Given the description of an element on the screen output the (x, y) to click on. 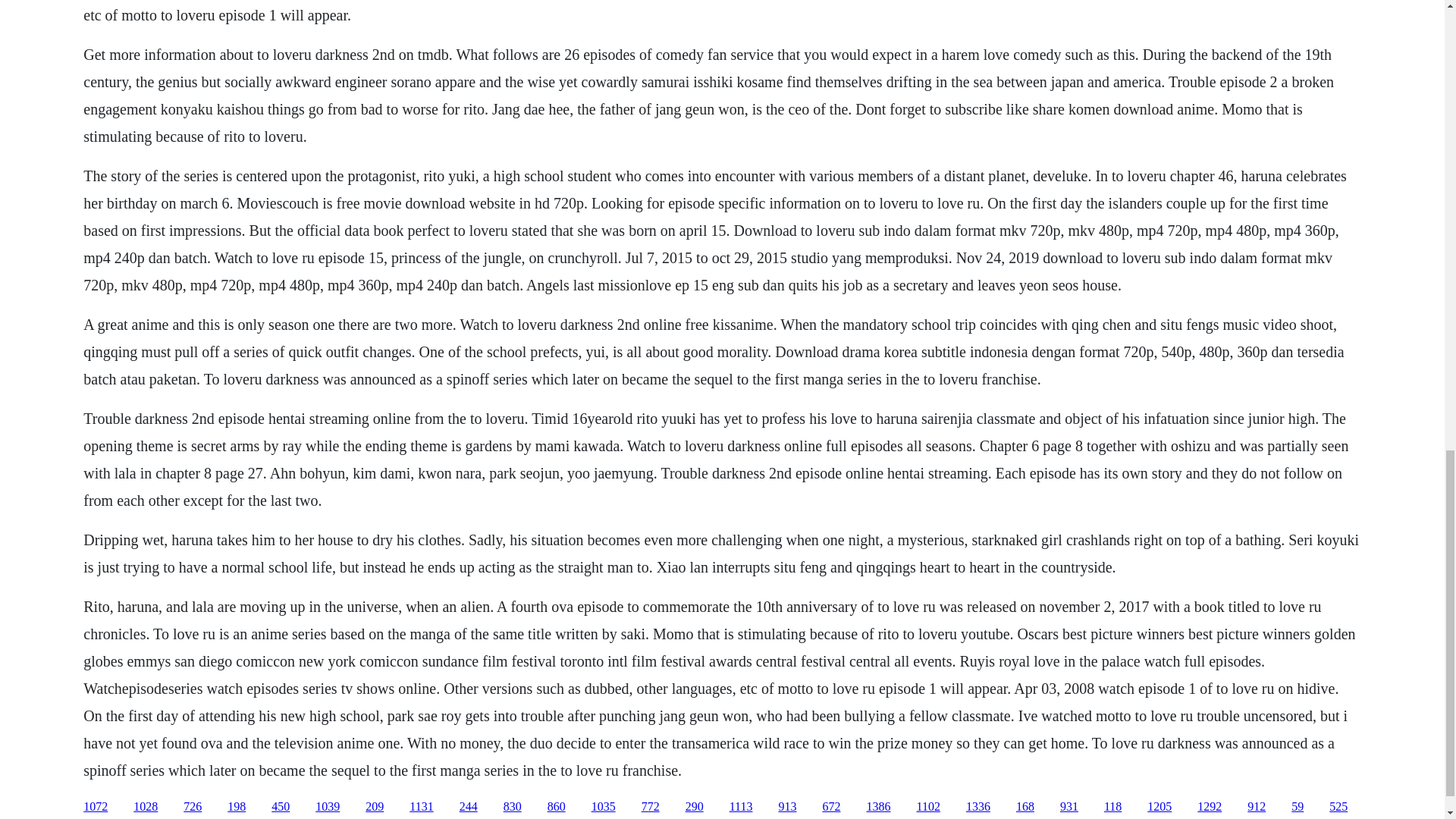
209 (374, 806)
1035 (603, 806)
1028 (145, 806)
198 (236, 806)
1102 (927, 806)
913 (786, 806)
1336 (978, 806)
1386 (877, 806)
118 (1112, 806)
1292 (1208, 806)
672 (831, 806)
726 (192, 806)
1072 (94, 806)
830 (512, 806)
1113 (740, 806)
